Given the description of an element on the screen output the (x, y) to click on. 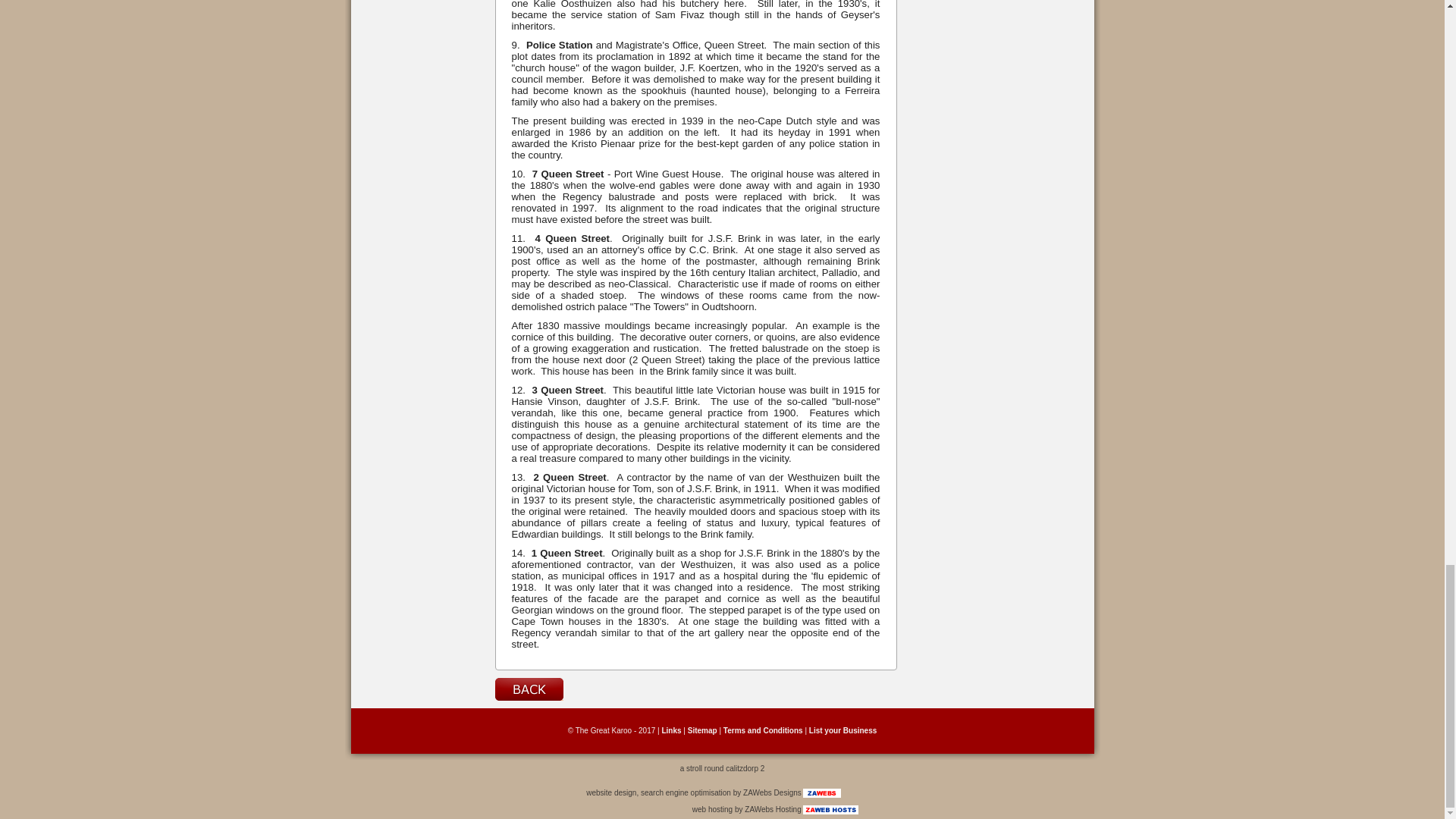
Go Back (528, 688)
